Given the description of an element on the screen output the (x, y) to click on. 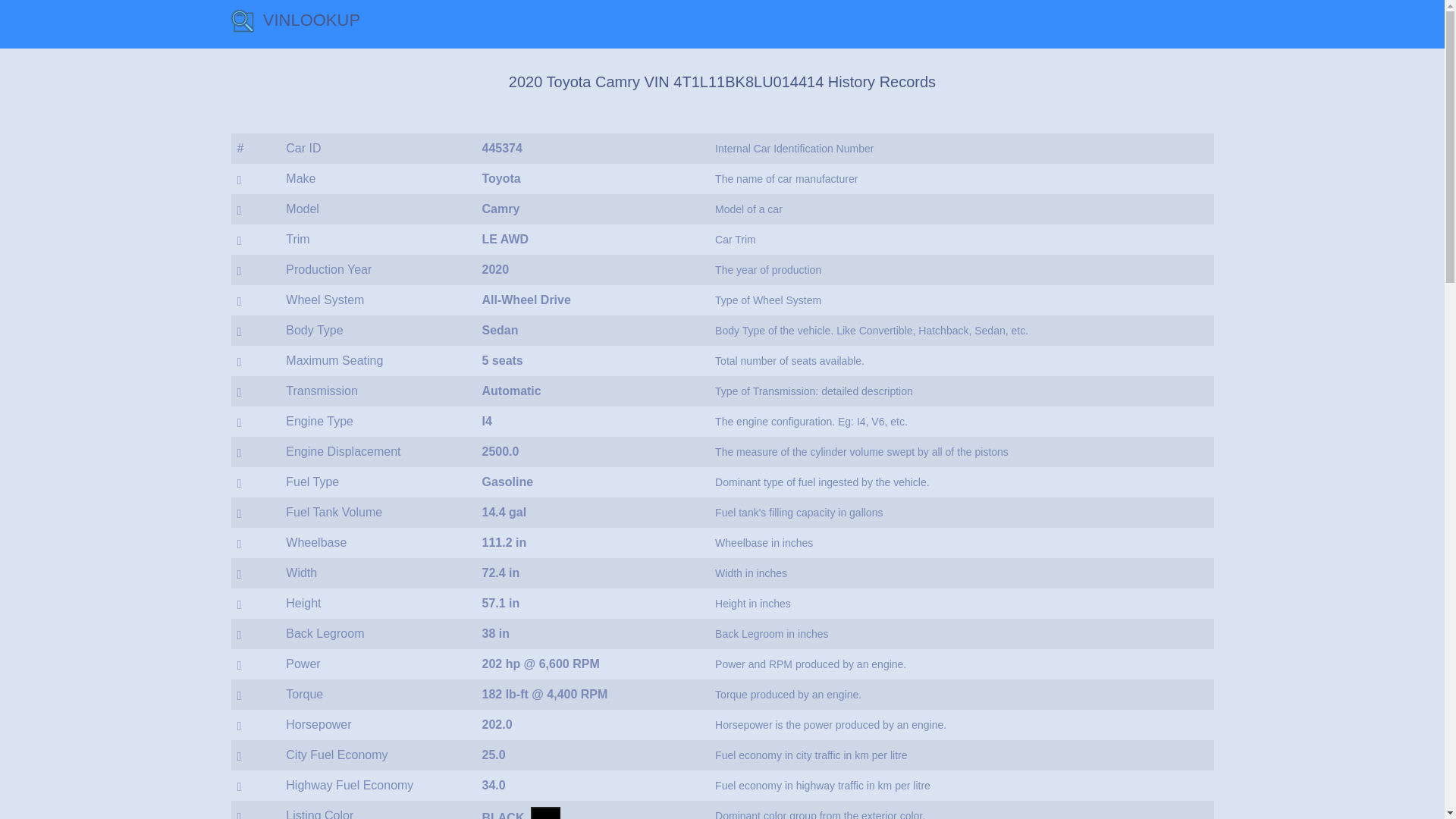
VinLookup.one (294, 23)
VinLookup.one (241, 20)
  VINLOOKUP (294, 23)
